Given the description of an element on the screen output the (x, y) to click on. 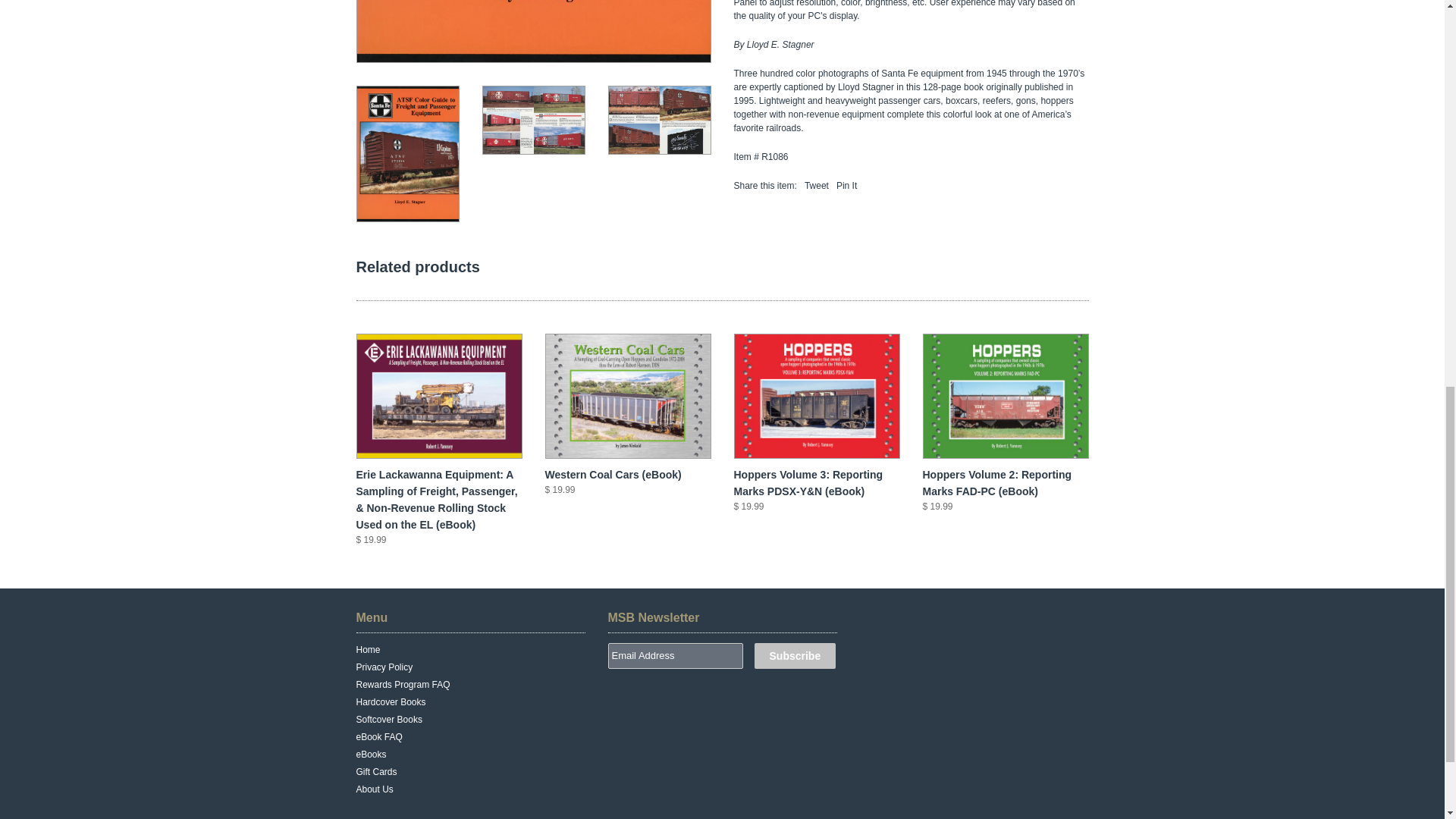
Subscribe (794, 655)
Rewards Program FAQ (402, 684)
eBook FAQ (379, 737)
About Us (374, 788)
Gift Cards (376, 771)
eBooks (371, 754)
Hardcover Books (391, 701)
Home (368, 649)
Privacy Policy (384, 666)
Pin It (846, 185)
Tweet (816, 185)
Softcover Books (389, 719)
